Given the description of an element on the screen output the (x, y) to click on. 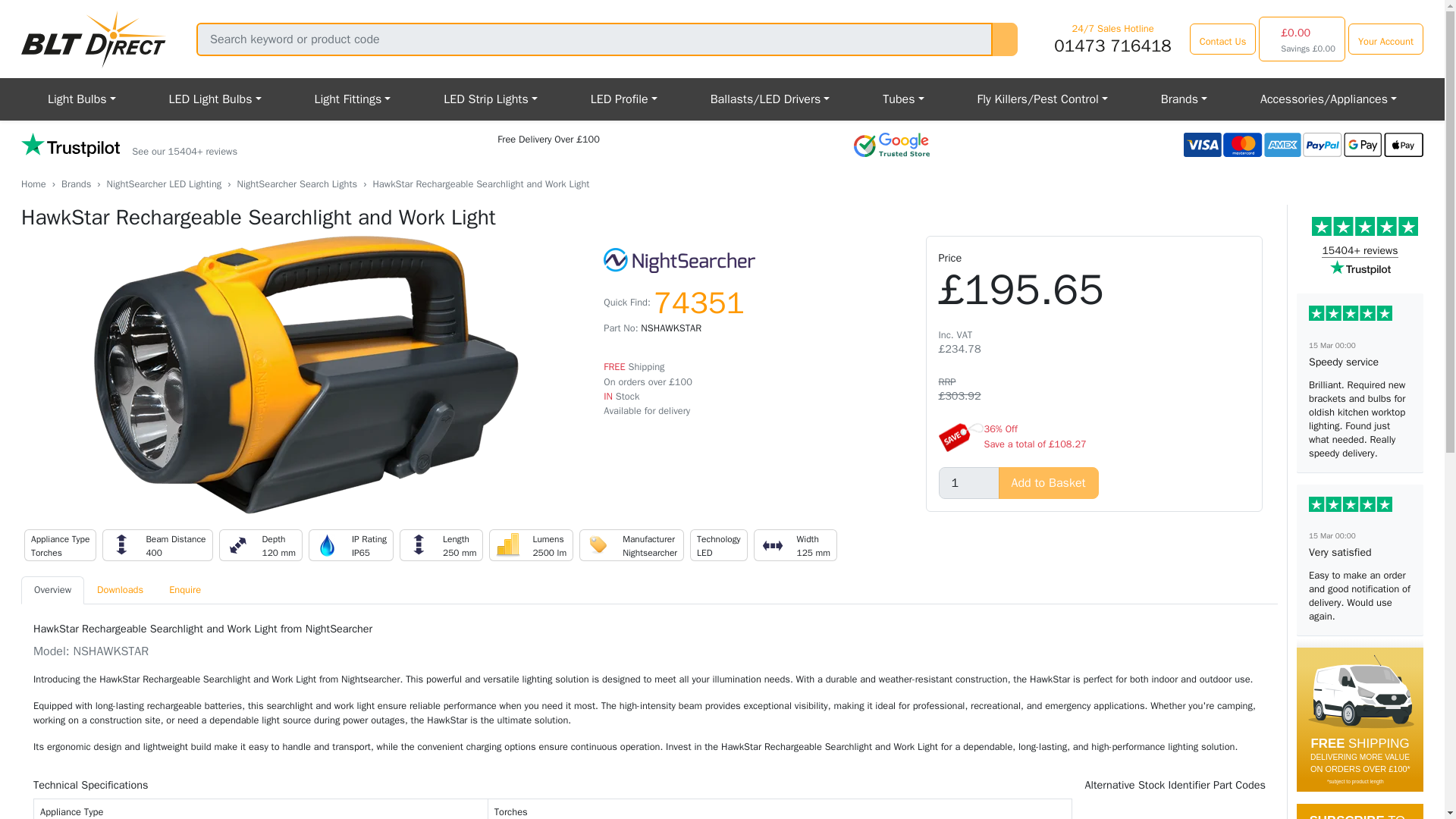
LED Light Bulbs (215, 99)
1 (968, 482)
Your Account (1385, 38)
HawkStar Rechargeable Searchlight and Work Light (306, 374)
LED Light Bulbs (215, 99)
Home (33, 184)
LED Strip Lights (489, 99)
Tubes (903, 99)
LED Profile (624, 99)
Brands (1183, 99)
